Given the description of an element on the screen output the (x, y) to click on. 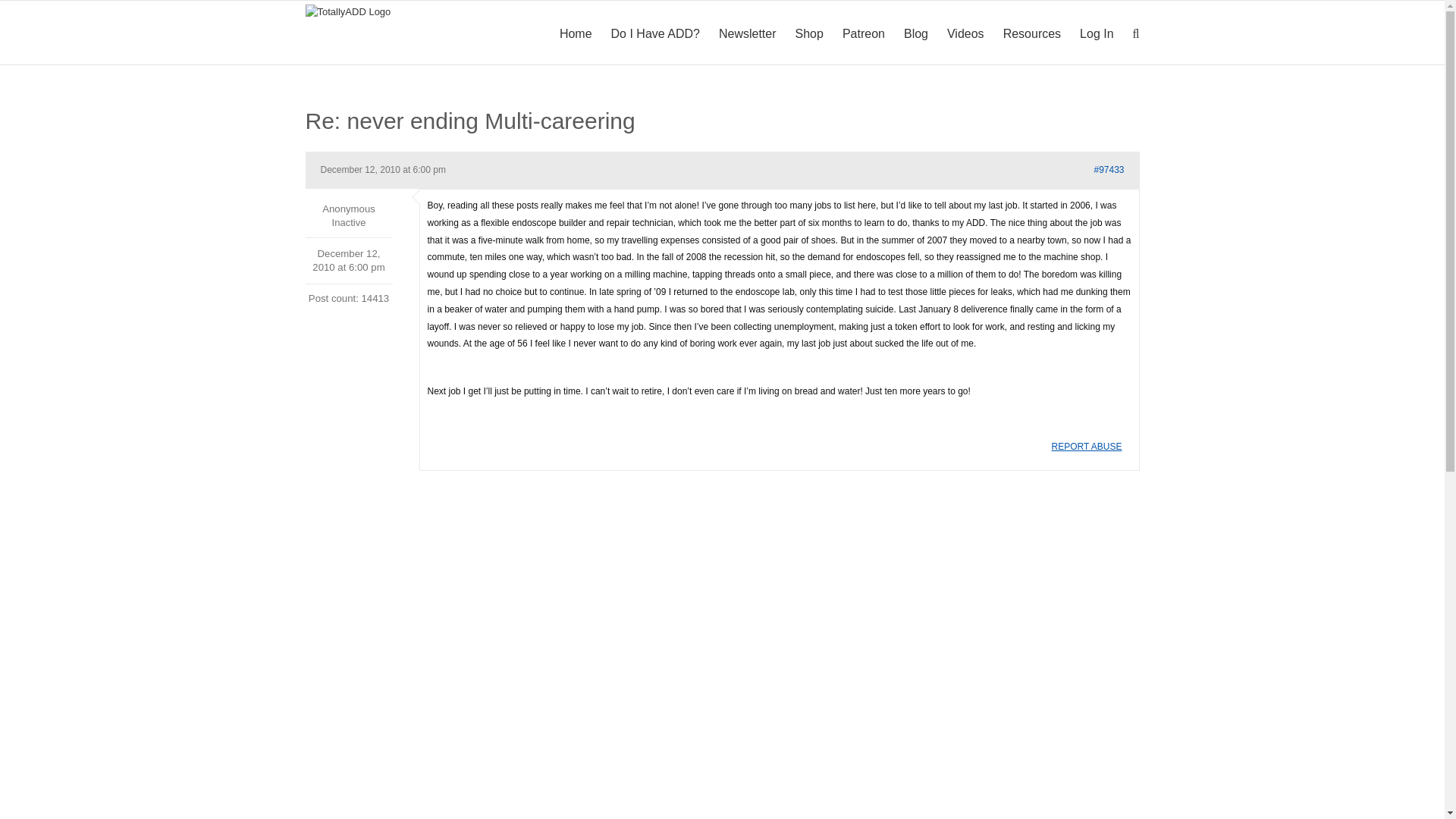
Do I Have ADHD? (655, 32)
Resources (1032, 32)
Newsletter (747, 32)
Do I Have ADD? (655, 32)
